Given the description of an element on the screen output the (x, y) to click on. 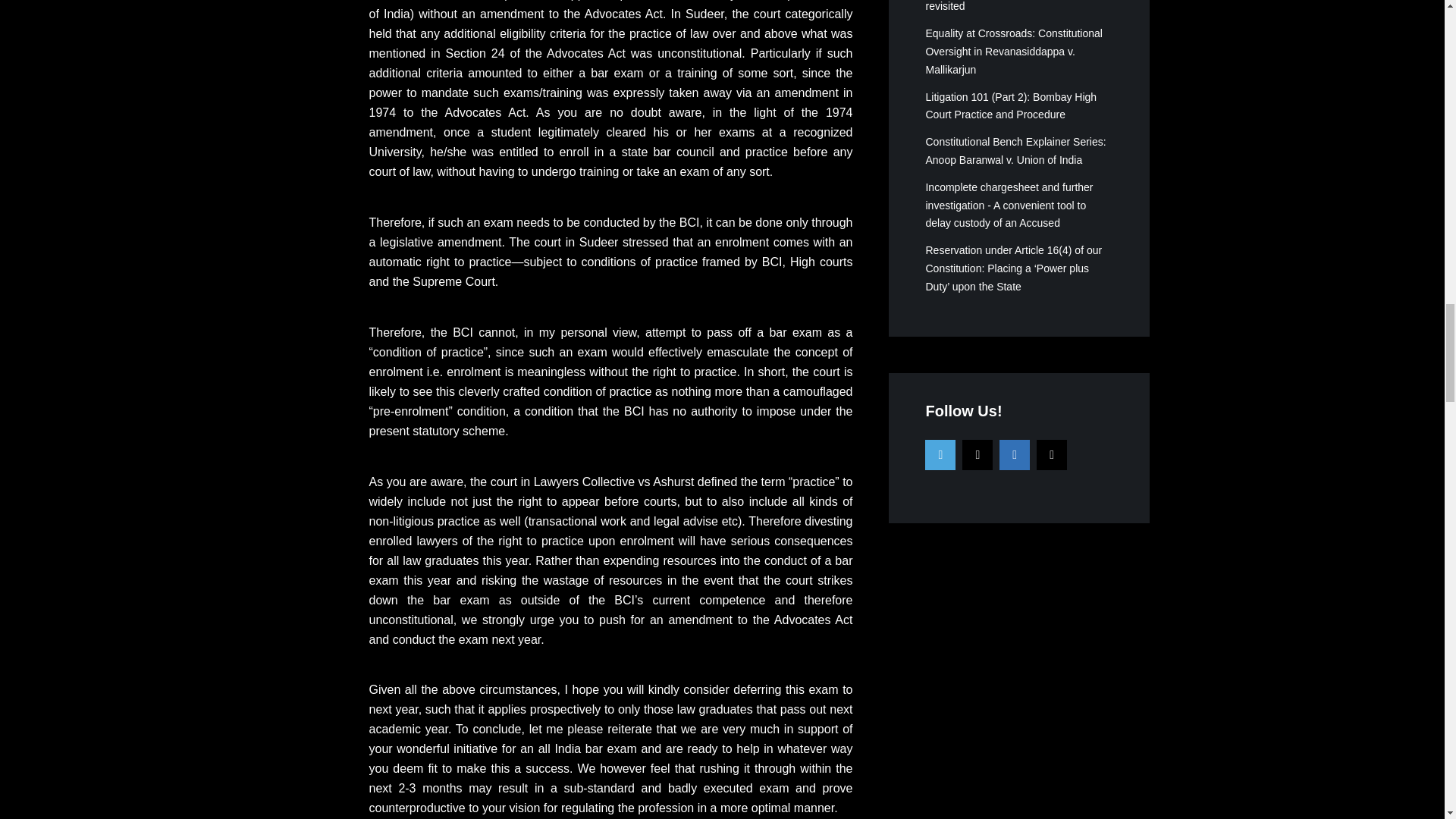
Twitter (939, 454)
Instagram (977, 454)
Linkedin (1013, 454)
Mail (1051, 454)
